Given the description of an element on the screen output the (x, y) to click on. 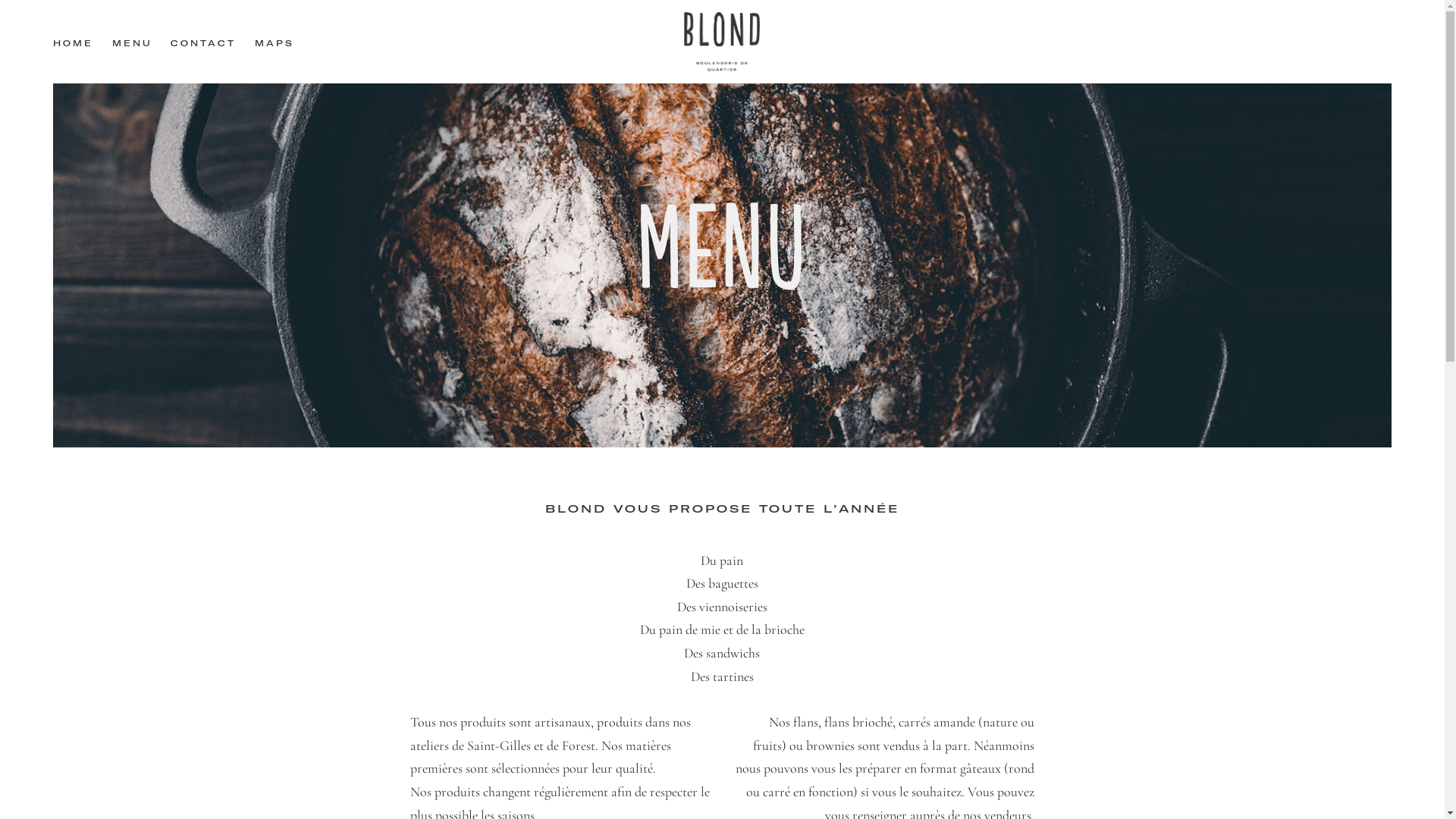
HOME Element type: text (76, 43)
MENU Element type: text (132, 43)
MAPS Element type: text (270, 43)
CONTACT Element type: text (203, 43)
Blond Boulangerie Element type: hover (721, 41)
